Given the description of an element on the screen output the (x, y) to click on. 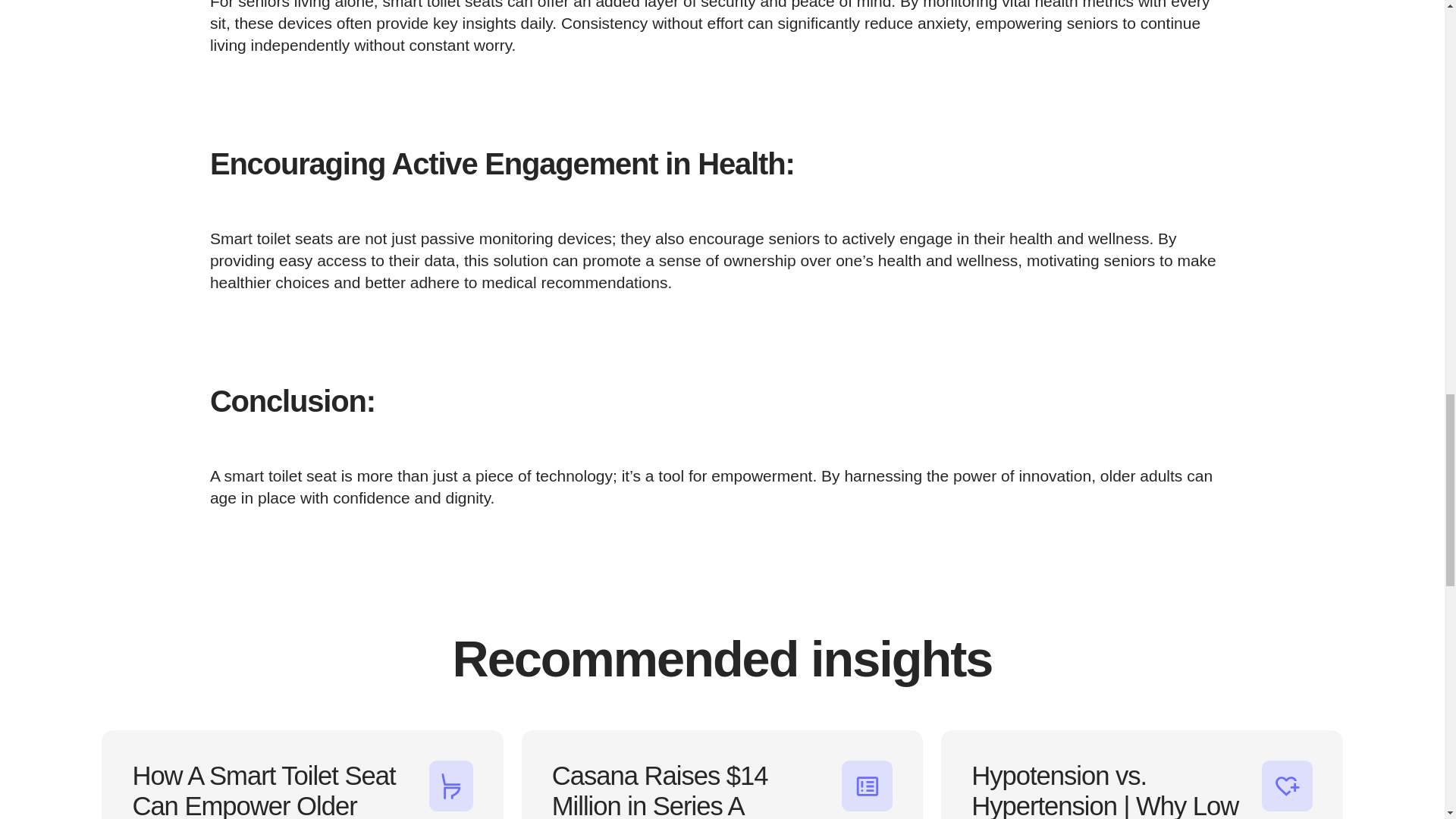
View (301, 774)
View (1141, 774)
View (722, 774)
